Given the description of an element on the screen output the (x, y) to click on. 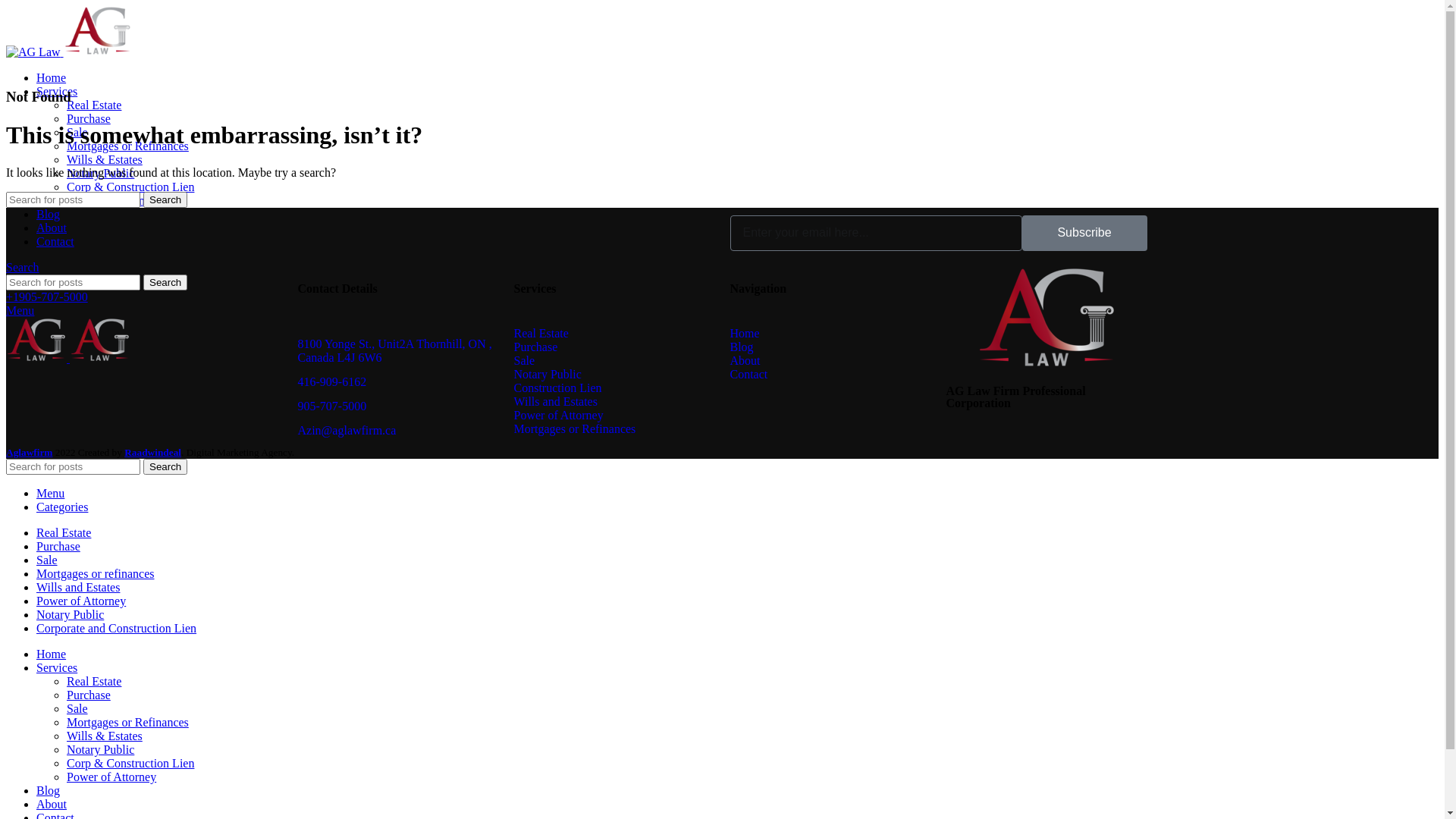
Corp & Construction Lien Element type: text (130, 186)
Services Element type: text (56, 90)
Search Element type: text (165, 282)
Power of Attorney Element type: text (80, 600)
Menu Element type: text (20, 310)
Wills and Estates Element type: text (77, 586)
About Element type: text (744, 360)
Purchase Element type: text (58, 545)
Notary Public Element type: text (547, 374)
Search Element type: text (165, 466)
Sale Element type: text (76, 708)
Search for posts Element type: hover (73, 466)
Mortgages or Refinances Element type: text (127, 145)
Real Estate Element type: text (93, 680)
Purchase Element type: text (88, 118)
Real Estate Element type: text (541, 333)
Real Estate Element type: text (93, 104)
Services Element type: text (56, 667)
Wills & Estates Element type: text (104, 159)
Blog Element type: text (47, 790)
Search Element type: text (165, 199)
Notary Public Element type: text (100, 172)
Mortgages or Refinances Element type: text (127, 721)
Subscribe Element type: text (1084, 233)
Purchase Element type: text (536, 347)
Wills and Estates Element type: text (555, 401)
Purchase Element type: text (88, 694)
Sale Element type: text (76, 131)
Notary Public Element type: text (100, 749)
Contact Element type: text (748, 374)
Sale Element type: text (46, 559)
Corp & Construction Lien Element type: text (130, 762)
About Element type: text (51, 803)
Sale Element type: text (524, 360)
Azin@aglawfirm.ca Element type: text (346, 430)
Search for posts Element type: hover (73, 199)
Search Element type: text (22, 266)
Real Estate Element type: text (63, 532)
Raadwindeal Element type: text (152, 452)
Blog Element type: text (741, 347)
Mortgages or refinances Element type: text (95, 573)
Power of Attorney Element type: text (111, 776)
About Element type: text (51, 227)
Power of Attorney Element type: text (111, 200)
Menu Element type: text (50, 492)
Blog Element type: text (47, 213)
Categories Element type: text (61, 506)
Corporate and Construction Lien Element type: text (116, 627)
Notary Public Element type: text (69, 614)
Power of Attorney Element type: text (558, 415)
Wills & Estates Element type: text (104, 735)
416-909-6162 Element type: text (331, 382)
8100 Yonge St., Unit2A Thornhill, ON , Canada L4J 6W6 Element type: text (397, 350)
+1905-707-5000 Element type: text (46, 296)
Home Element type: text (50, 653)
Home Element type: text (50, 77)
Search for posts Element type: hover (73, 282)
905-707-5000 Element type: text (331, 406)
Mortgages or Refinances Element type: text (575, 429)
Construction Lien Element type: text (558, 388)
Home Element type: text (744, 333)
Contact Element type: text (55, 241)
Aglawfirm Element type: text (29, 452)
